Given the description of an element on the screen output the (x, y) to click on. 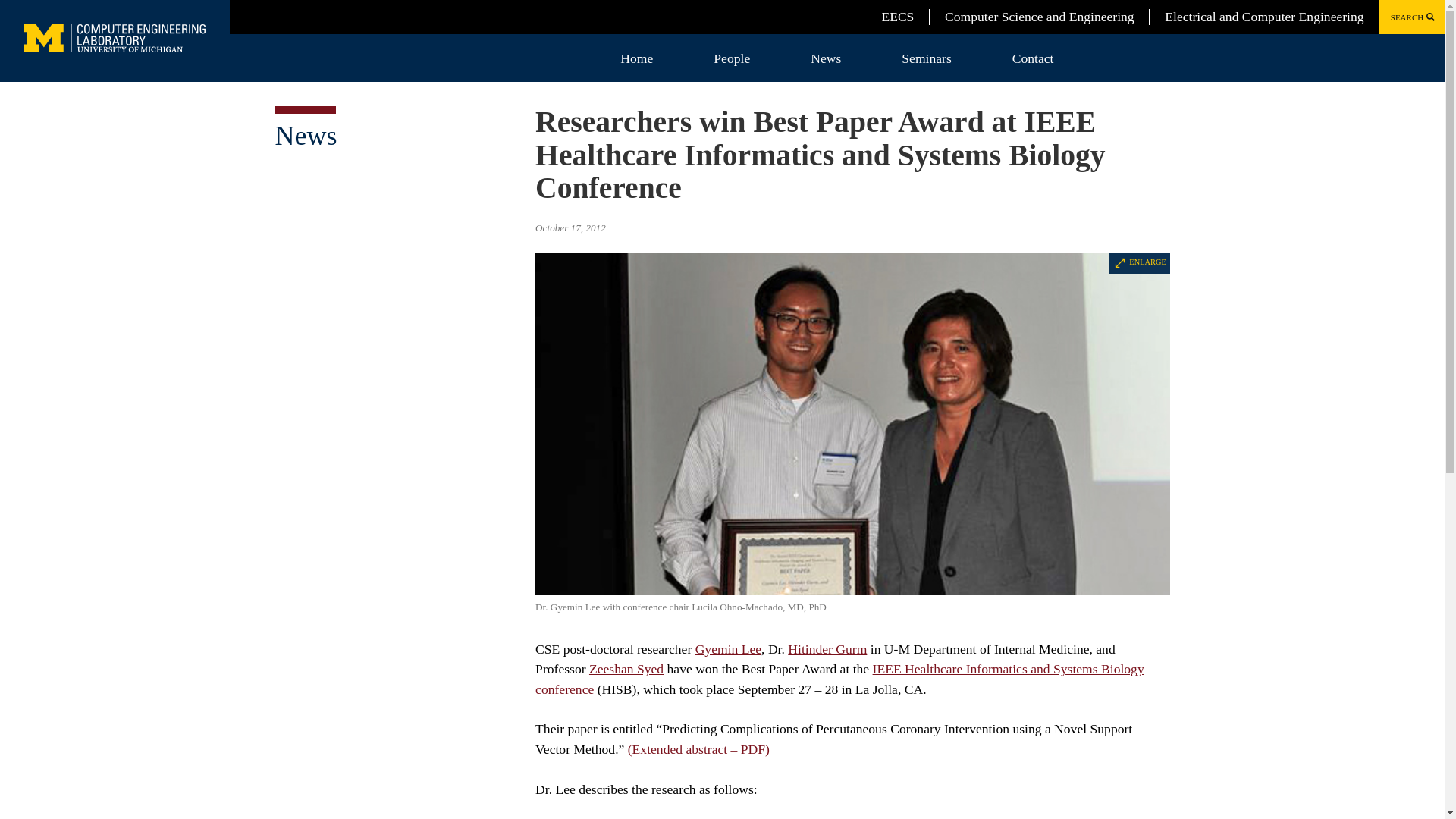
Computer Science and Engineering (1039, 16)
Gyemin Lee (728, 648)
Seminars (925, 57)
News (305, 135)
IEEE Healthcare Informatics and Systems Biology conference (839, 678)
People (731, 57)
EECS (897, 16)
Hitinder Gurm (826, 648)
Contact (1032, 57)
News (825, 57)
Electrical and Computer Engineering (1263, 16)
Home (636, 57)
Zeeshan Syed (626, 668)
